Given the description of an element on the screen output the (x, y) to click on. 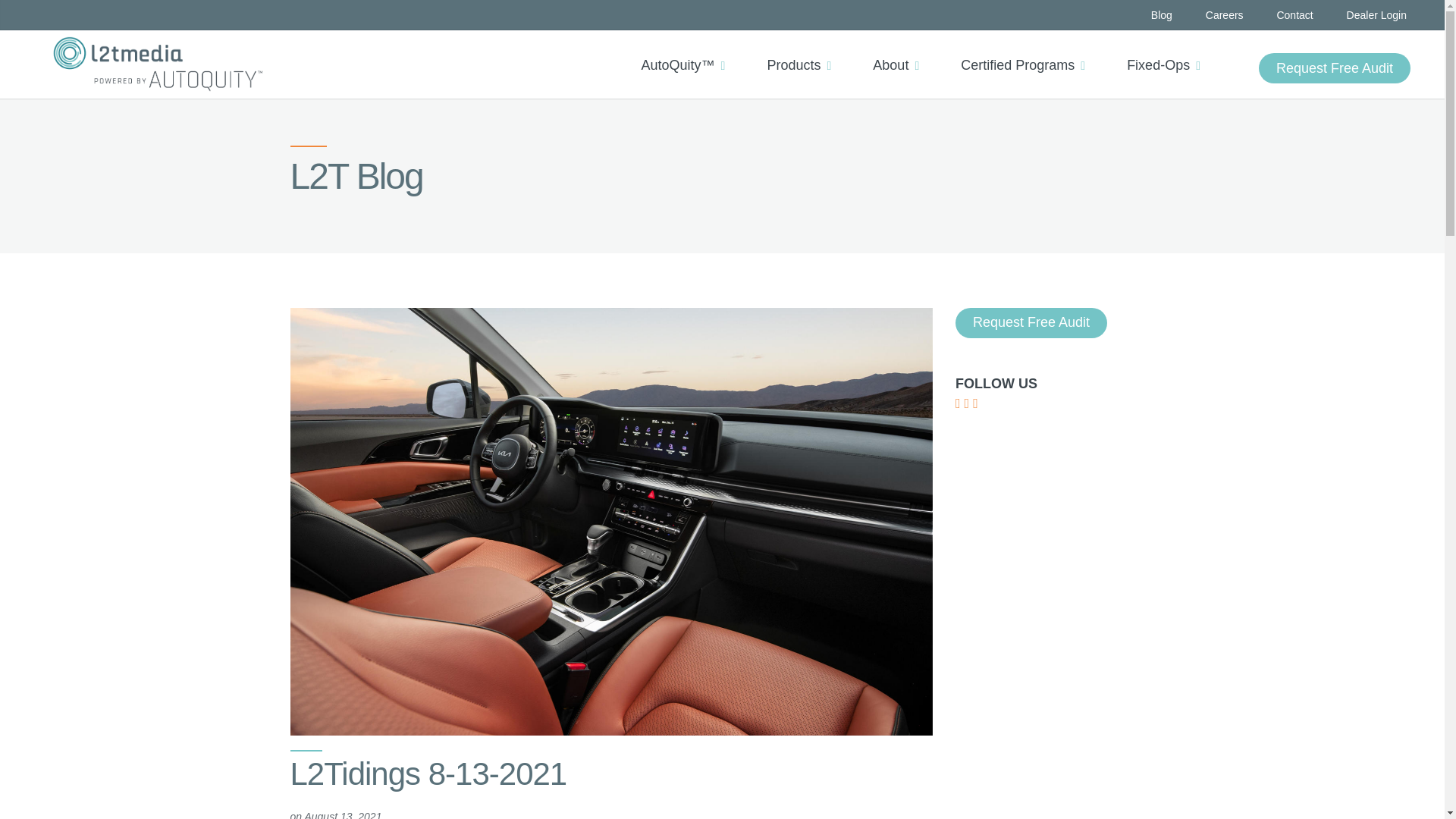
Fixed-Ops (1169, 52)
Dealer Login (1376, 15)
Blog (1161, 15)
About (900, 52)
Certified Programs (1028, 52)
Request Free Audit (1334, 68)
Careers (1224, 15)
Products (804, 52)
Request Free Audit (1334, 68)
Contact (1294, 15)
